Given the description of an element on the screen output the (x, y) to click on. 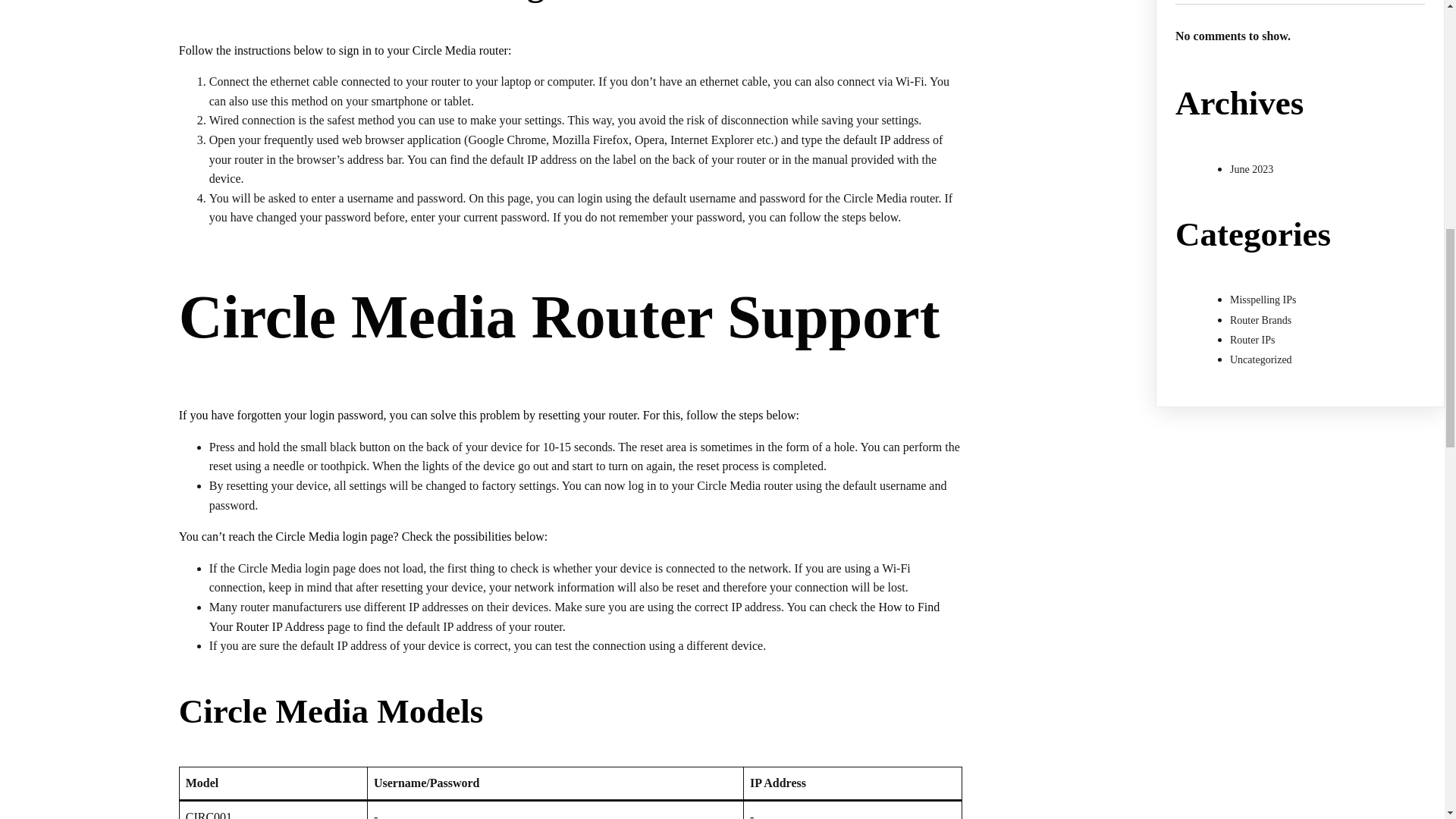
Misspelling IPs (1263, 299)
CIRC001 (208, 814)
Uncategorized (1261, 359)
June 2023 (1251, 169)
Router Brands (1260, 319)
How to Find Your Router IP Address (574, 616)
Router IPs (1252, 339)
